Given the description of an element on the screen output the (x, y) to click on. 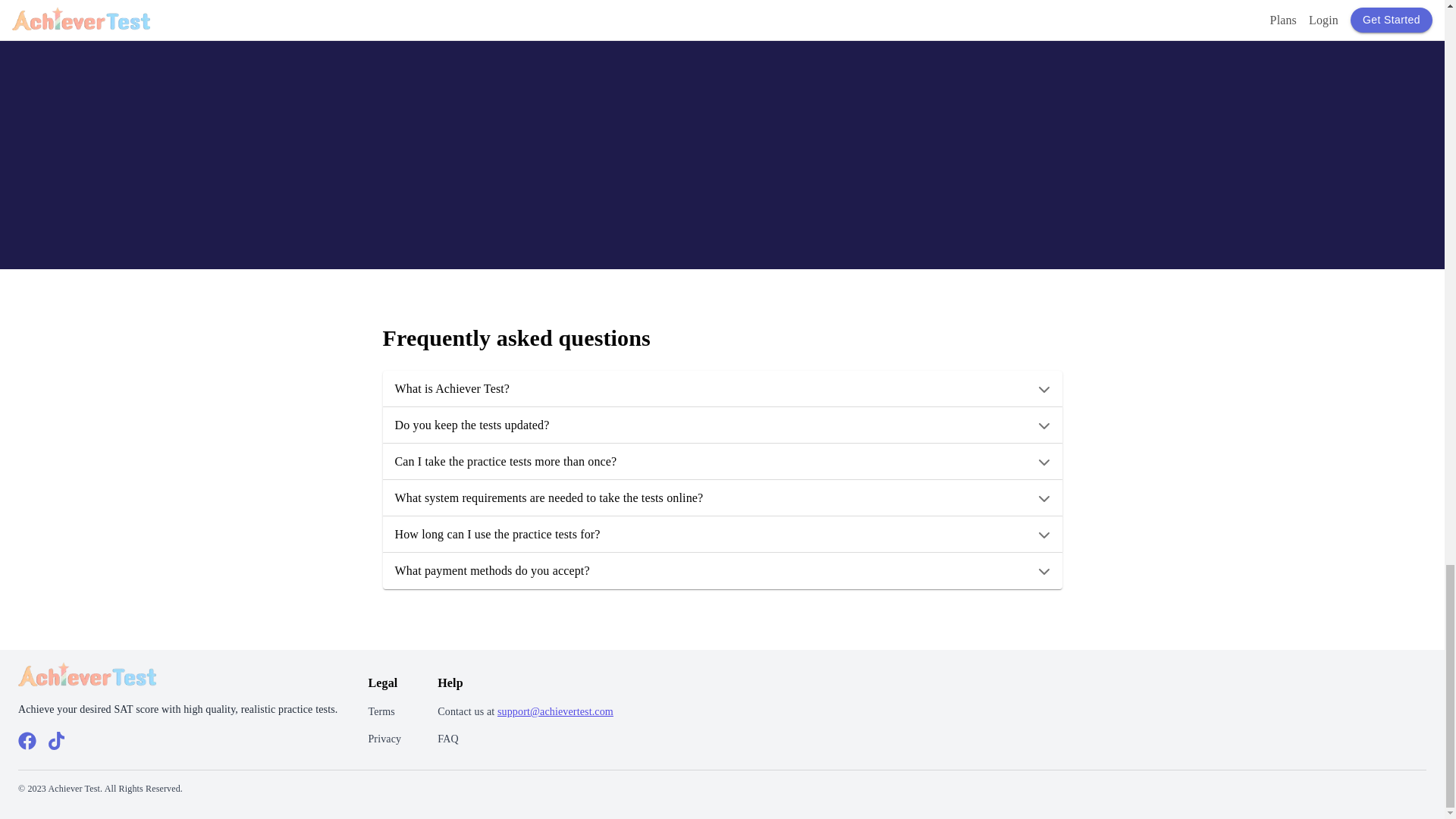
Terms (381, 711)
Privacy (384, 738)
FAQ (448, 738)
